Given the description of an element on the screen output the (x, y) to click on. 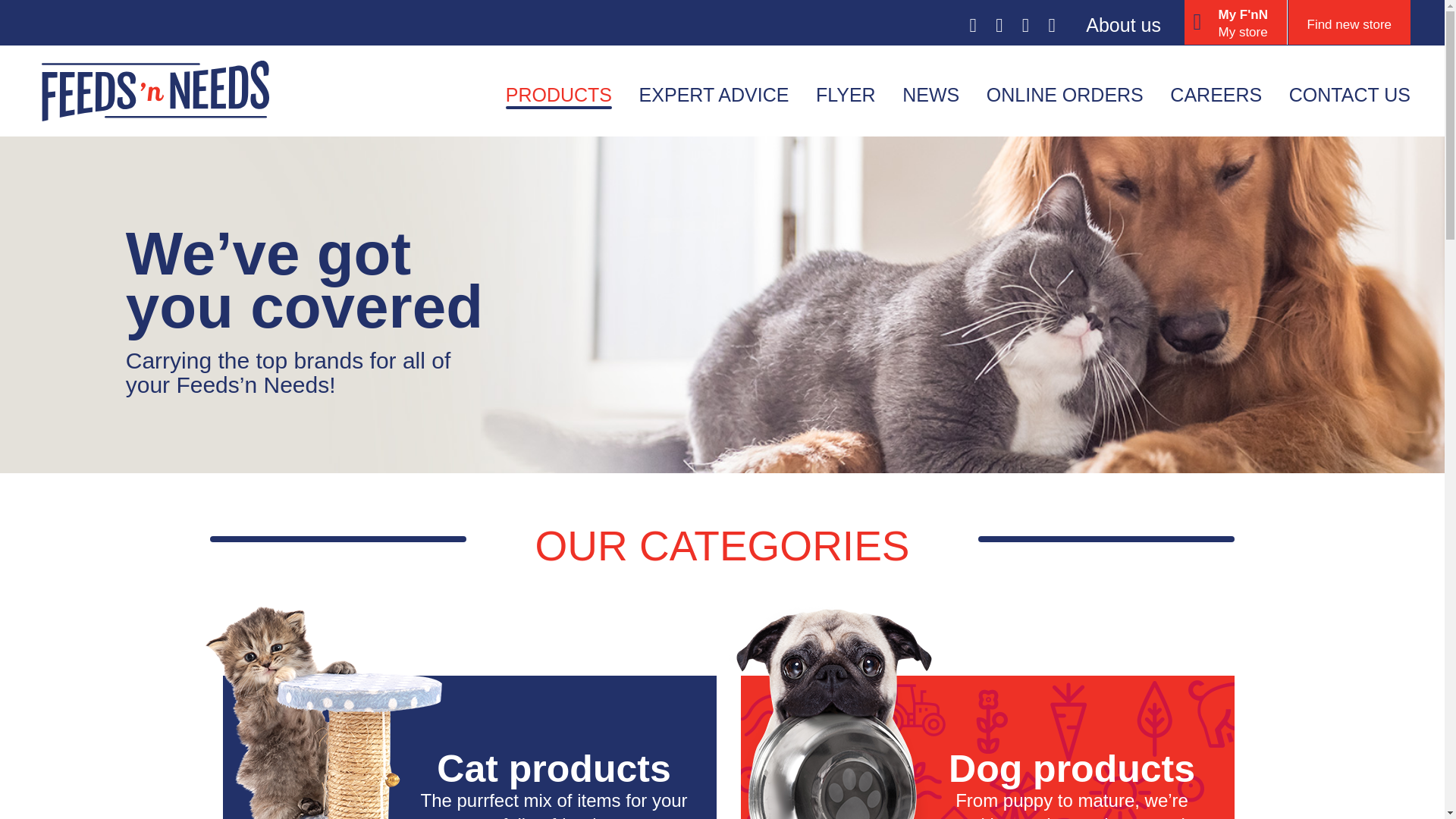
NEWS (930, 94)
CAREERS (1216, 94)
About us (1123, 24)
ONLINE ORDERS (1064, 94)
PRODUCTS (558, 94)
EXPERT ADVICE (714, 94)
CONTACT US (1349, 94)
Find new store (1348, 22)
FLYER (845, 94)
